Given the description of an element on the screen output the (x, y) to click on. 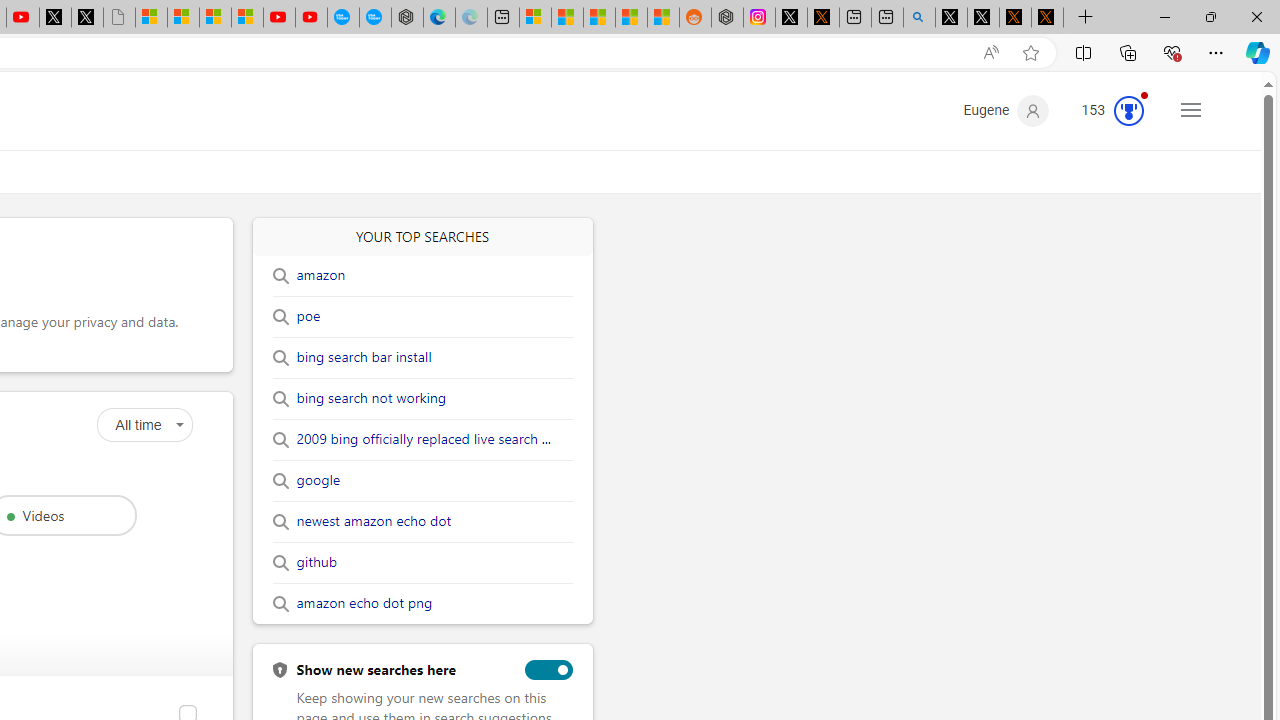
X Privacy Policy (1047, 17)
Profile / X (950, 17)
github - Search (919, 17)
